Given the description of an element on the screen output the (x, y) to click on. 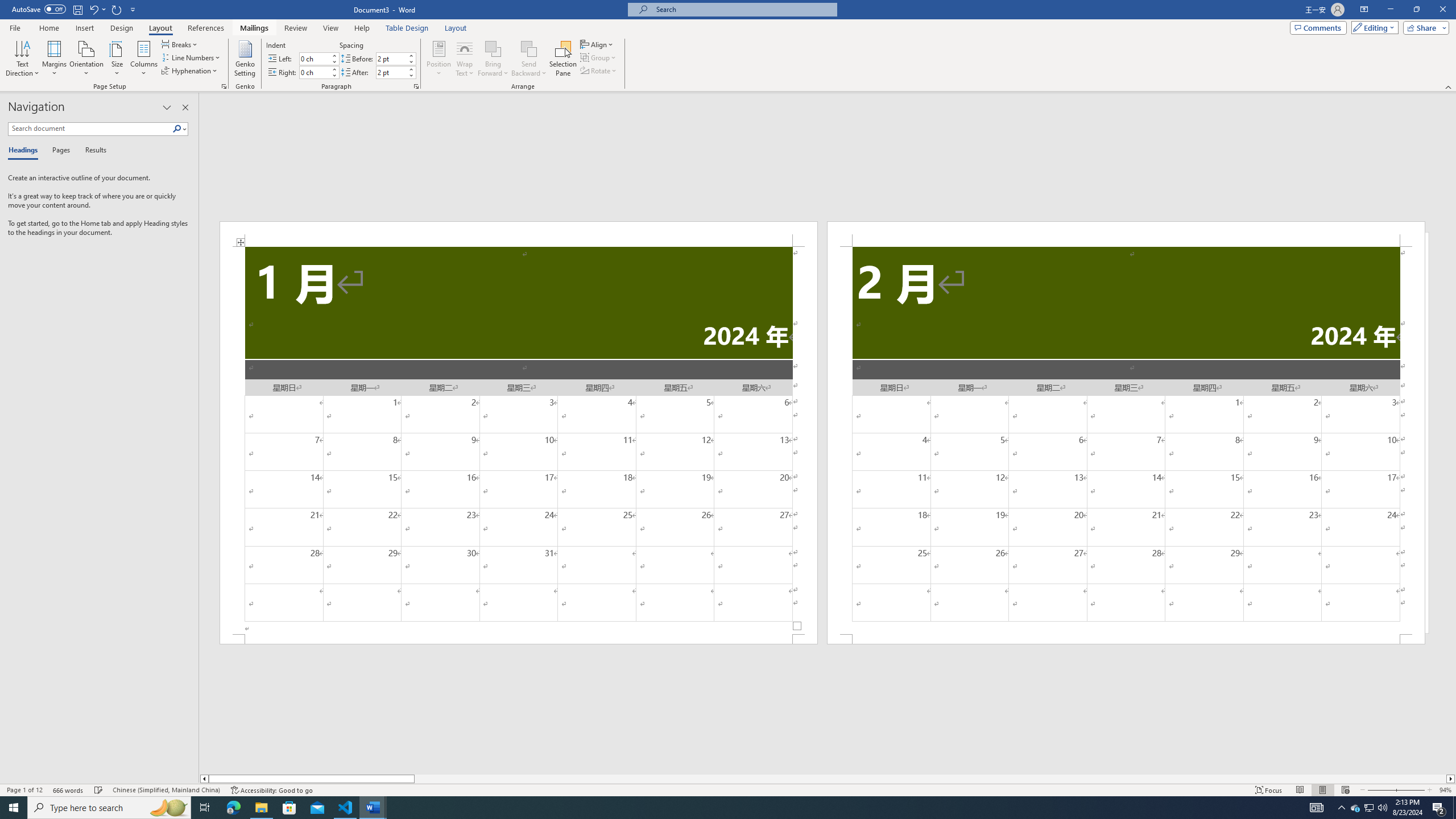
Class: MsoCommandBar (728, 789)
Bring Forward (492, 48)
Paragraph... (416, 85)
Wrap Text (464, 58)
Search (179, 128)
Web Layout (1344, 790)
Print Layout (1322, 790)
Header -Section 2- (1126, 233)
Zoom In (1410, 790)
AutoSave (38, 9)
Quick Access Toolbar (74, 9)
Selection Pane... (563, 58)
Page Setup... (223, 85)
